Given the description of an element on the screen output the (x, y) to click on. 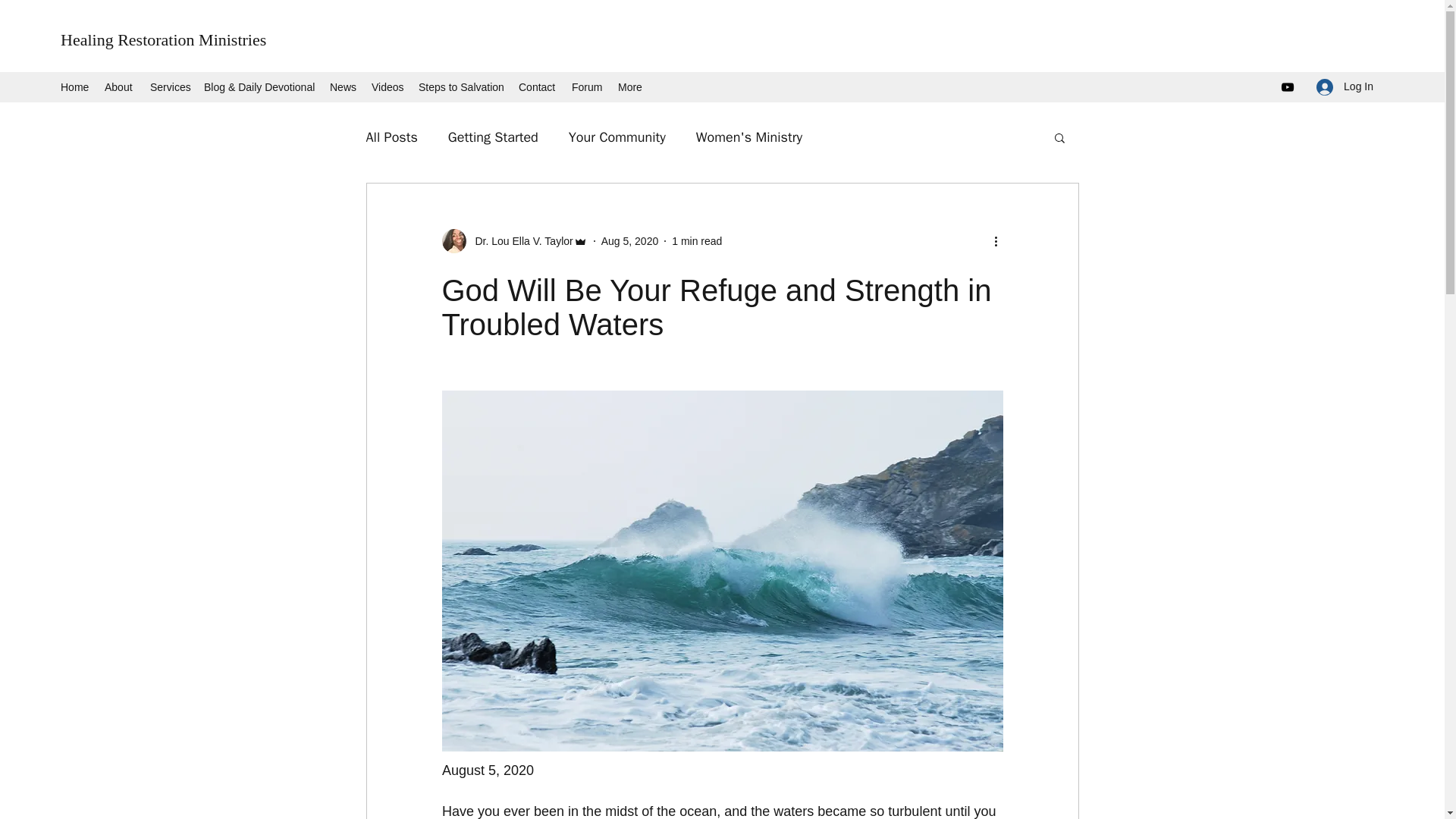
Home (74, 87)
About (119, 87)
Forum (587, 87)
News (342, 87)
1 min read (696, 241)
Contact (537, 87)
Dr. Lou Ella V. Taylor (518, 241)
Videos (387, 87)
Getting Started (493, 136)
Log In (1345, 86)
Dr. Lou Ella V. Taylor (513, 241)
Women's Ministry (748, 136)
All Posts (390, 136)
Services (169, 87)
Healing Restoration Ministries (163, 39)
